Given the description of an element on the screen output the (x, y) to click on. 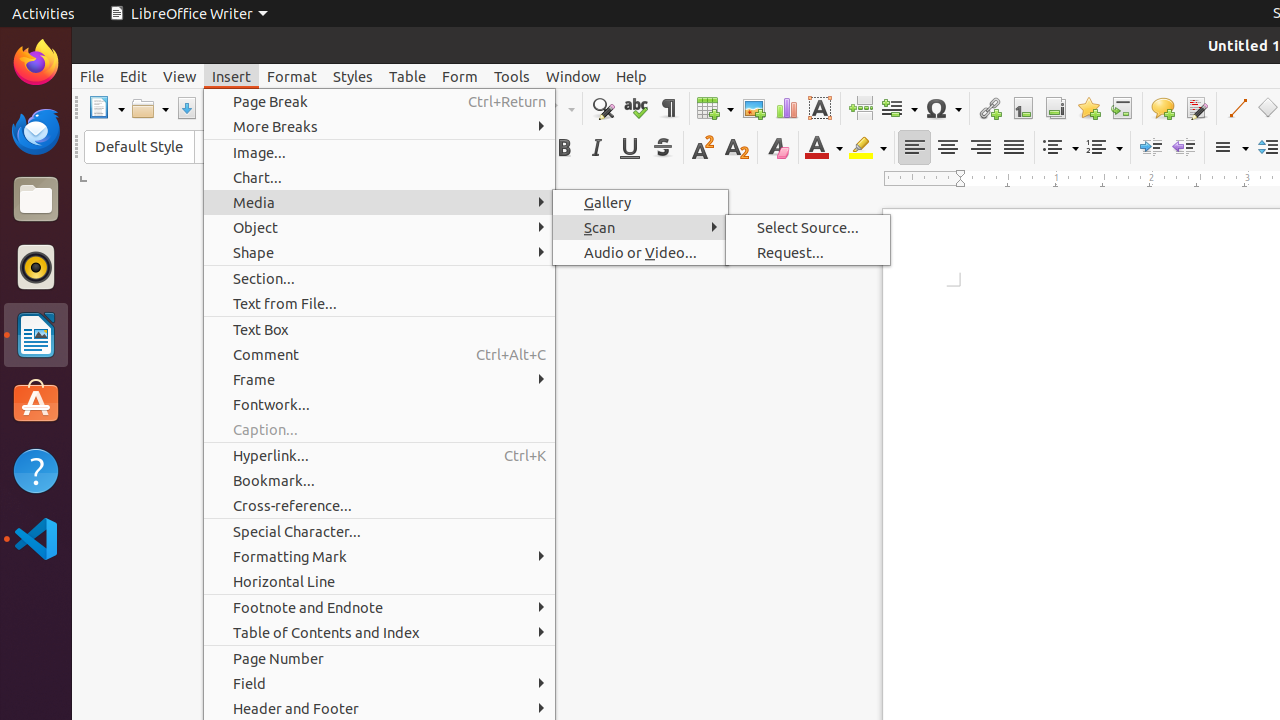
Window Element type: menu (573, 76)
Comment Element type: menu-item (379, 354)
Field Element type: push-button (899, 108)
Highlight Color Element type: push-button (868, 147)
Center Element type: toggle-button (947, 147)
